Given the description of an element on the screen output the (x, y) to click on. 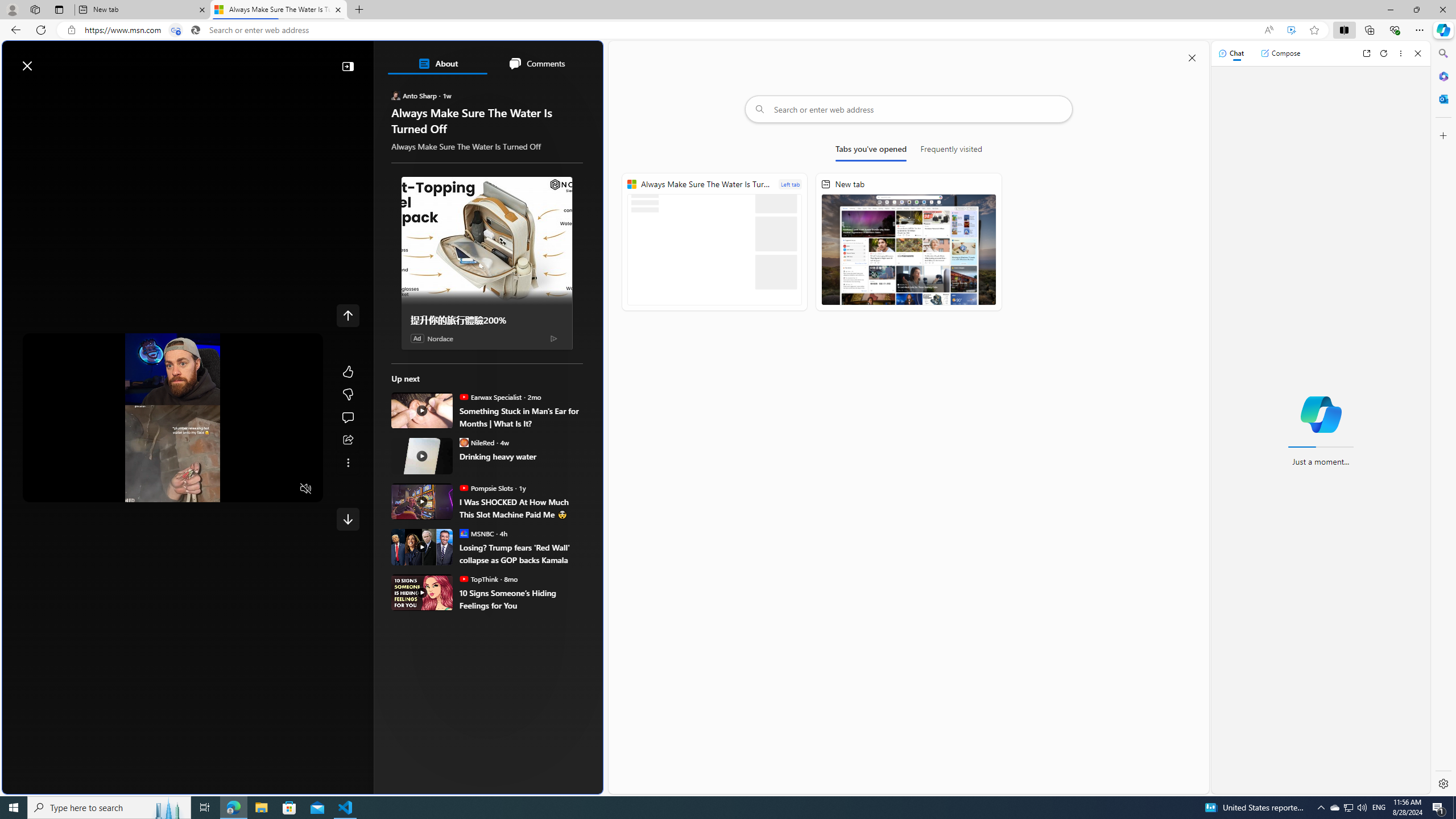
Open navigation menu (43, 92)
Something Stuck in Man's Ear for Months | What Is It? (421, 410)
Pompsie Slots Pompsie Slots (486, 488)
Share this story (347, 440)
Always Make Sure The Water Is Turned Off (277, 9)
